Given the description of an element on the screen output the (x, y) to click on. 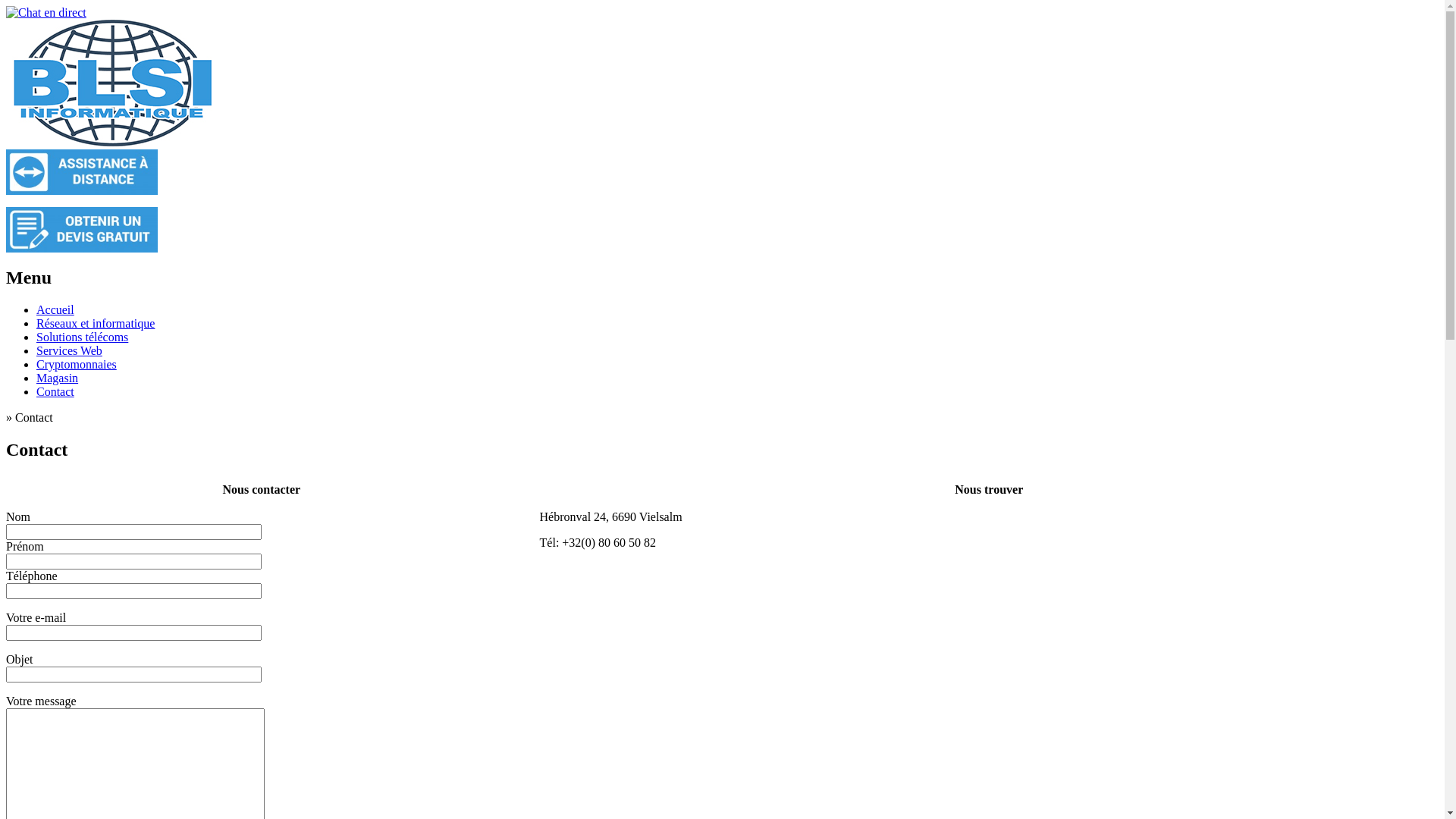
Cryptomonnaies Element type: text (76, 363)
Magasin Element type: text (57, 377)
Skip to content Element type: text (5, 302)
Contact Element type: text (55, 391)
Accueil Element type: text (55, 309)
Services Web Element type: text (69, 350)
